Given the description of an element on the screen output the (x, y) to click on. 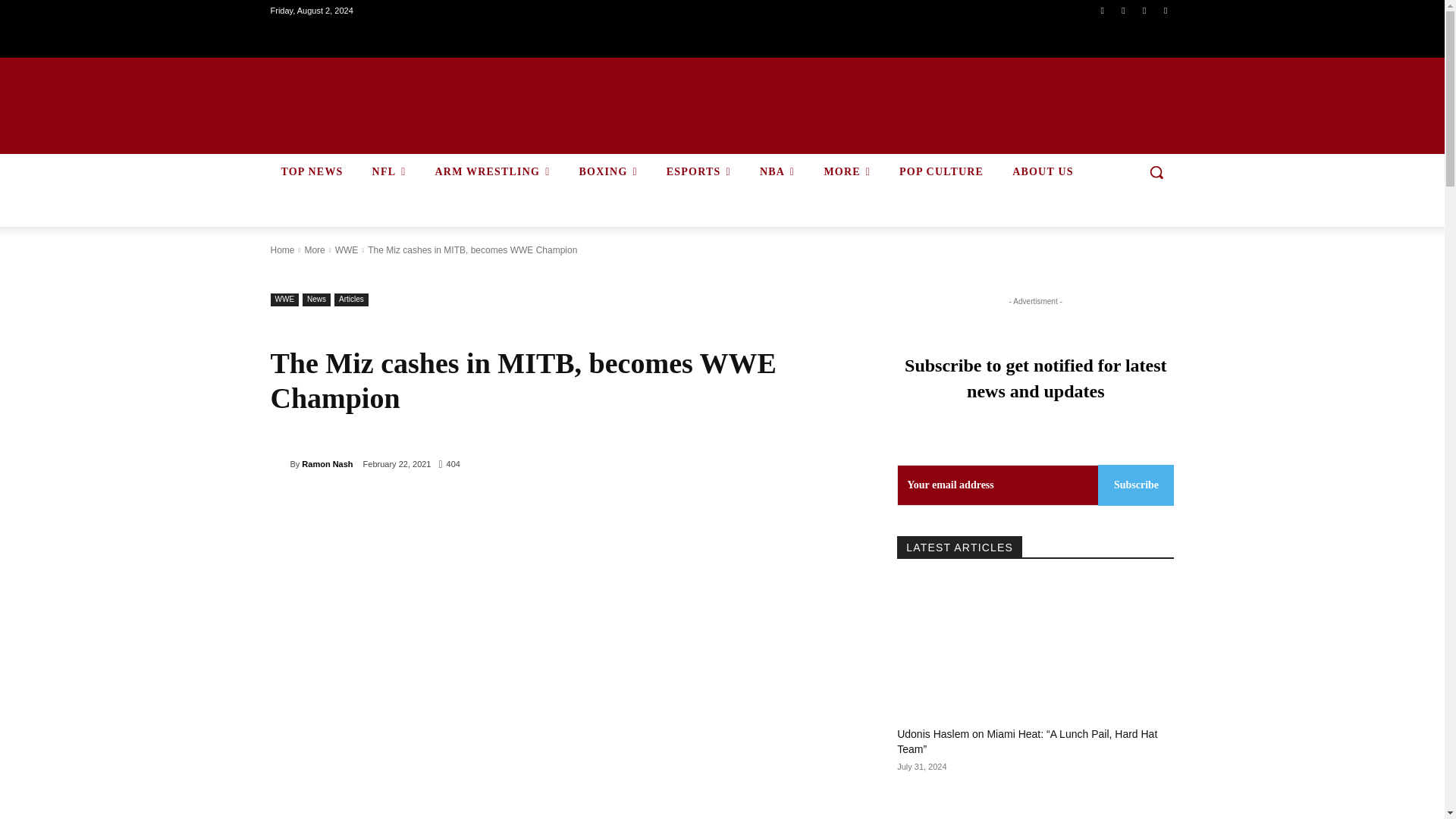
Twitter (1144, 9)
Youtube (1165, 9)
Facebook (1101, 9)
Instagram (1123, 9)
